Given the description of an element on the screen output the (x, y) to click on. 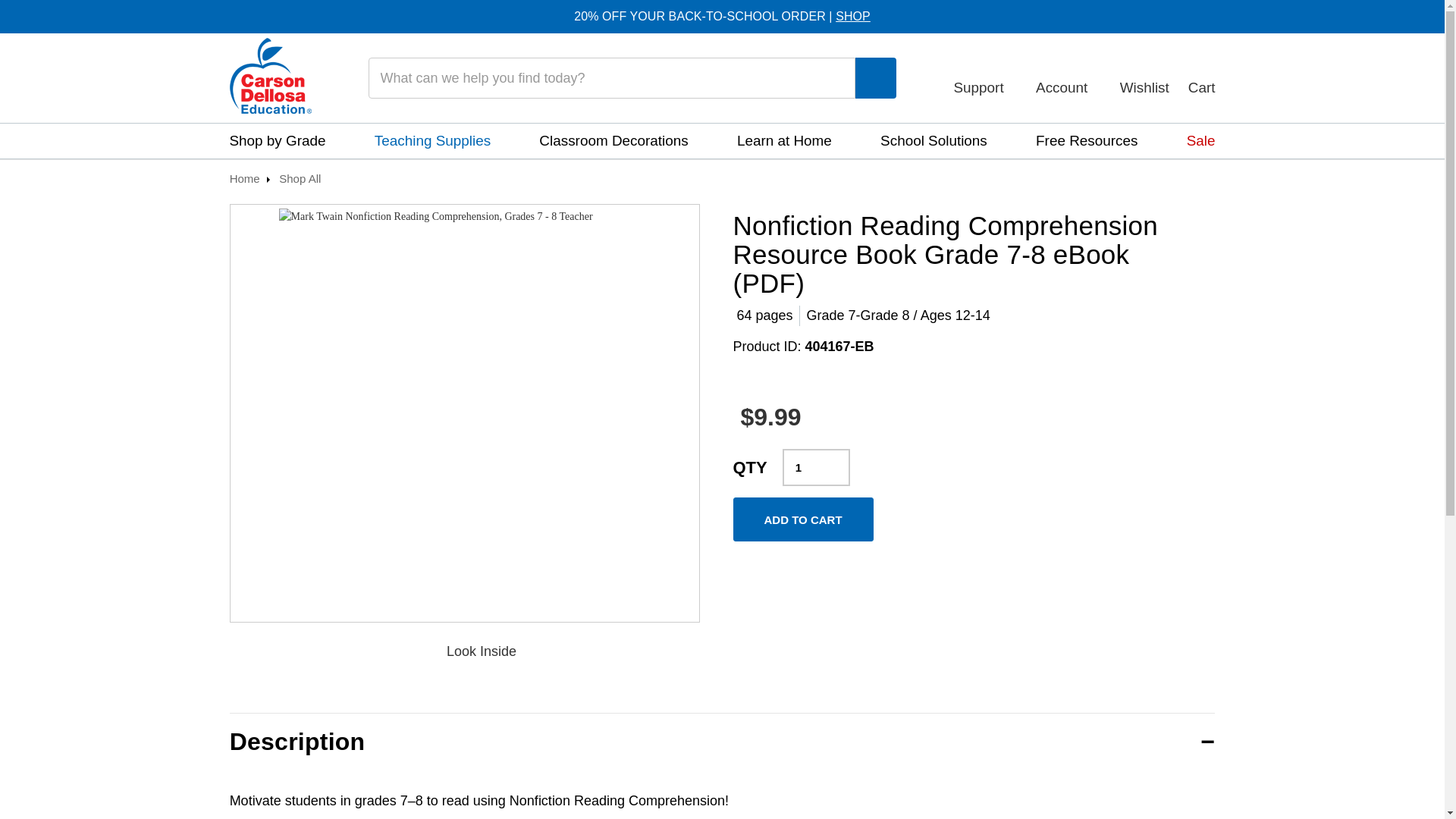
Add to Cart (802, 519)
Carson Dellosa Education (269, 75)
1 (816, 467)
search (875, 78)
search (876, 77)
Support (984, 77)
Teaching Supplies (432, 140)
SHOP (852, 15)
Carson Dellosa Education (269, 77)
